Given the description of an element on the screen output the (x, y) to click on. 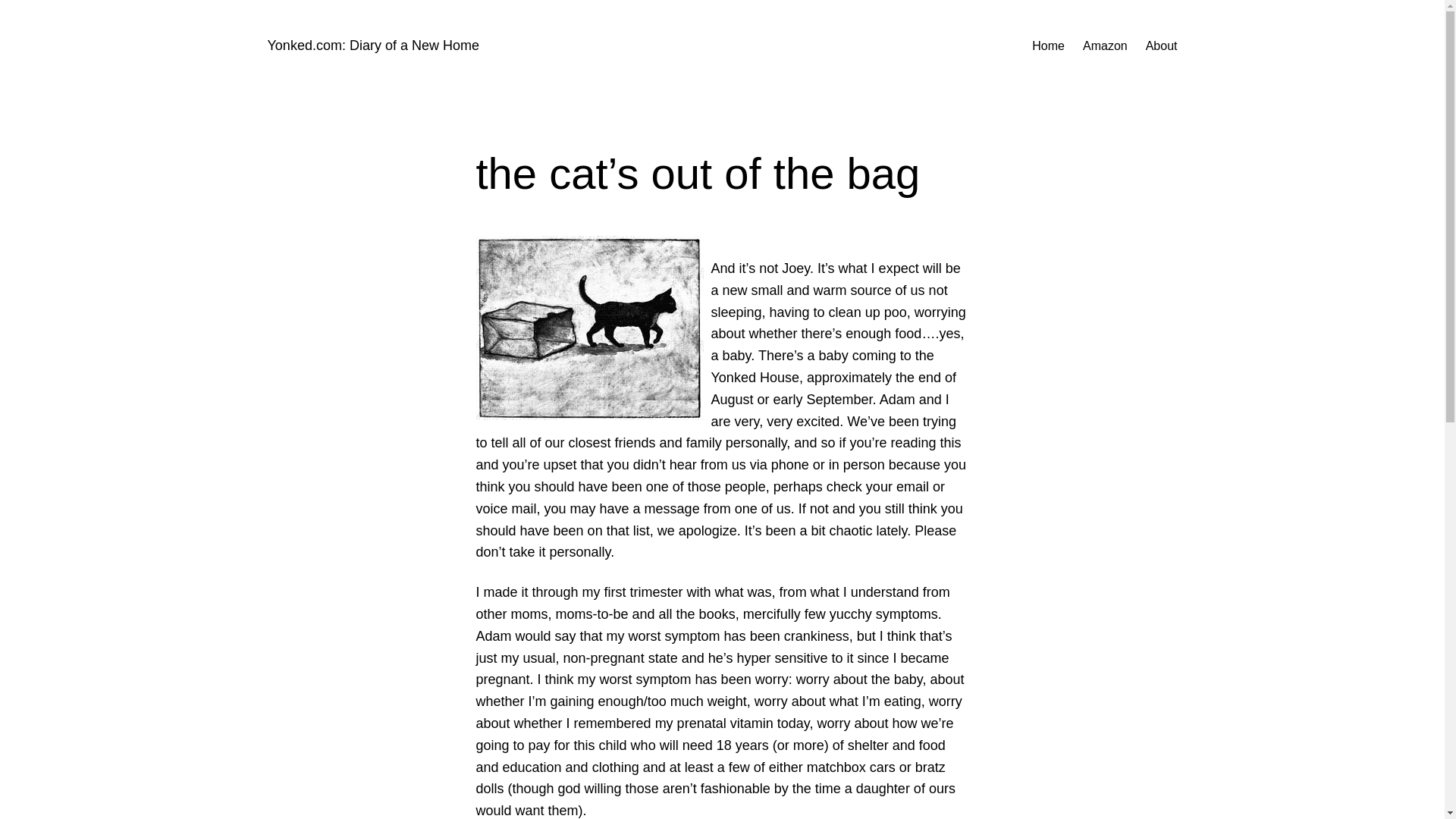
About (1161, 46)
Home (1048, 46)
Amazon (1104, 46)
Yonked.com: Diary of a New Home (372, 45)
